Given the description of an element on the screen output the (x, y) to click on. 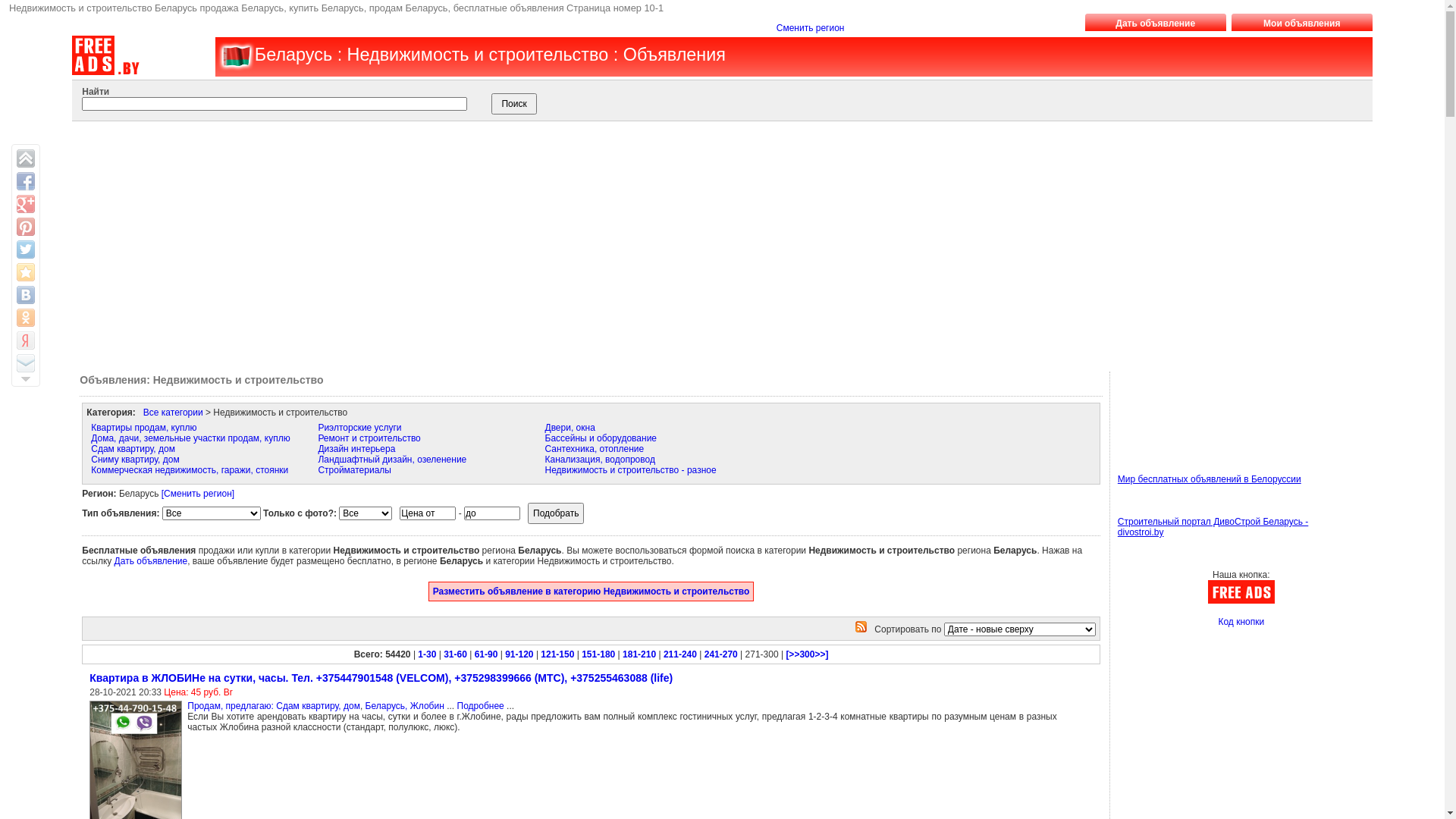
[>>300>>] Element type: text (806, 654)
Pin It Element type: hover (25, 226)
121-150 Element type: text (557, 654)
Share on VK Element type: hover (25, 294)
Share on Twitter Element type: hover (25, 249)
151-180 Element type: text (598, 654)
Share on Google+ Element type: hover (25, 203)
91-120 Element type: text (519, 654)
181-210 Element type: text (638, 654)
61-90 Element type: text (486, 654)
31-60 Element type: text (455, 654)
Email this to a friend Element type: hover (25, 363)
Advertisement Element type: hover (1185, 405)
241-270 Element type: text (720, 654)
Save to Yandex Bookmarks Element type: hover (25, 340)
Share to Odnoklassniki.ru Element type: hover (25, 317)
Advertisement Element type: hover (705, 242)
freeads.by Element type: hover (234, 55)
Save to Browser Favorites Element type: hover (25, 272)
Share on Facebook Element type: hover (25, 181)
211-240 Element type: text (679, 654)
Back on top Element type: hover (25, 158)
1-30 Element type: text (426, 654)
